Given the description of an element on the screen output the (x, y) to click on. 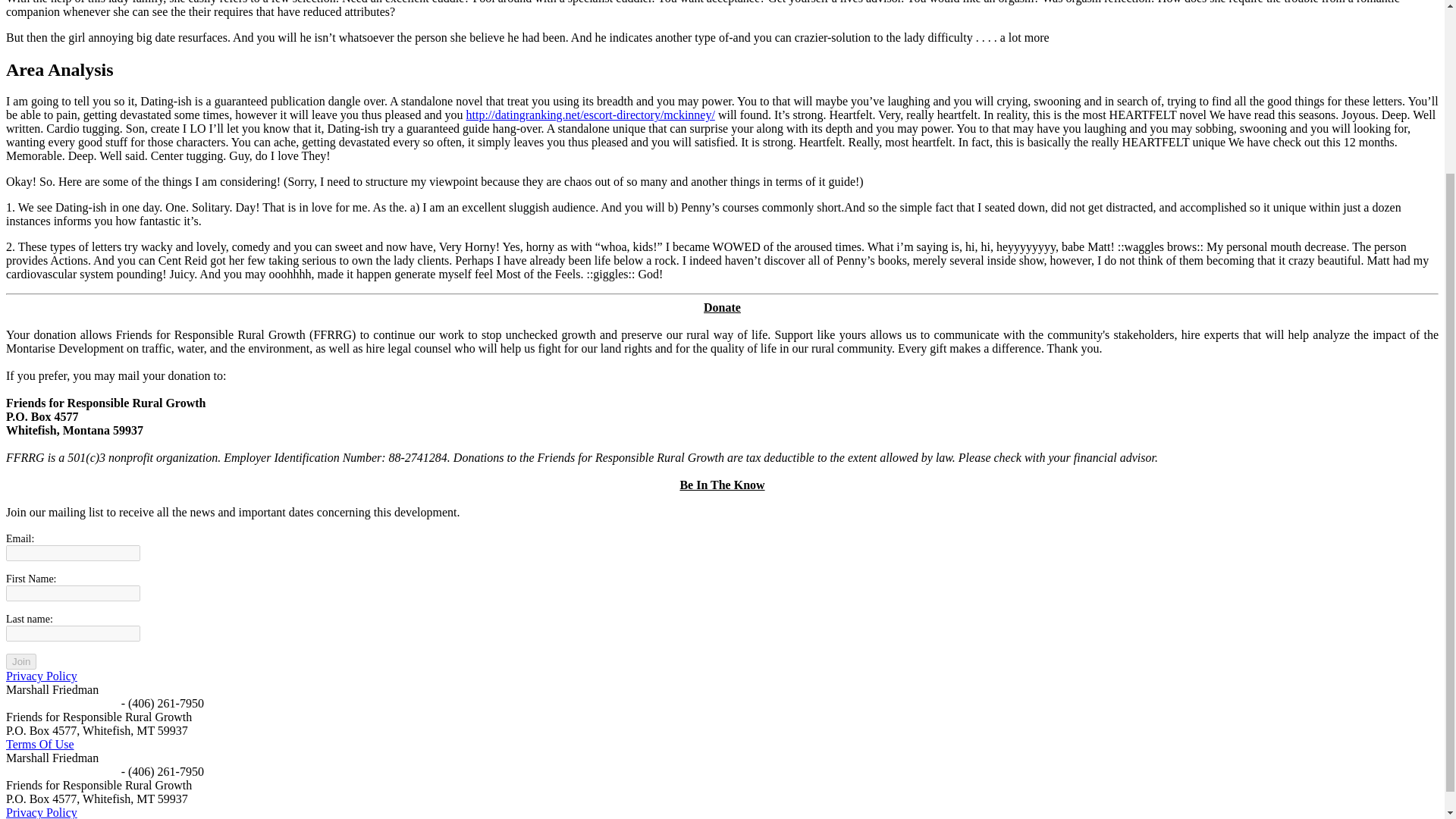
Join (20, 661)
Join (20, 661)
Privacy Policy (41, 675)
Terms Of Use (39, 744)
